Given the description of an element on the screen output the (x, y) to click on. 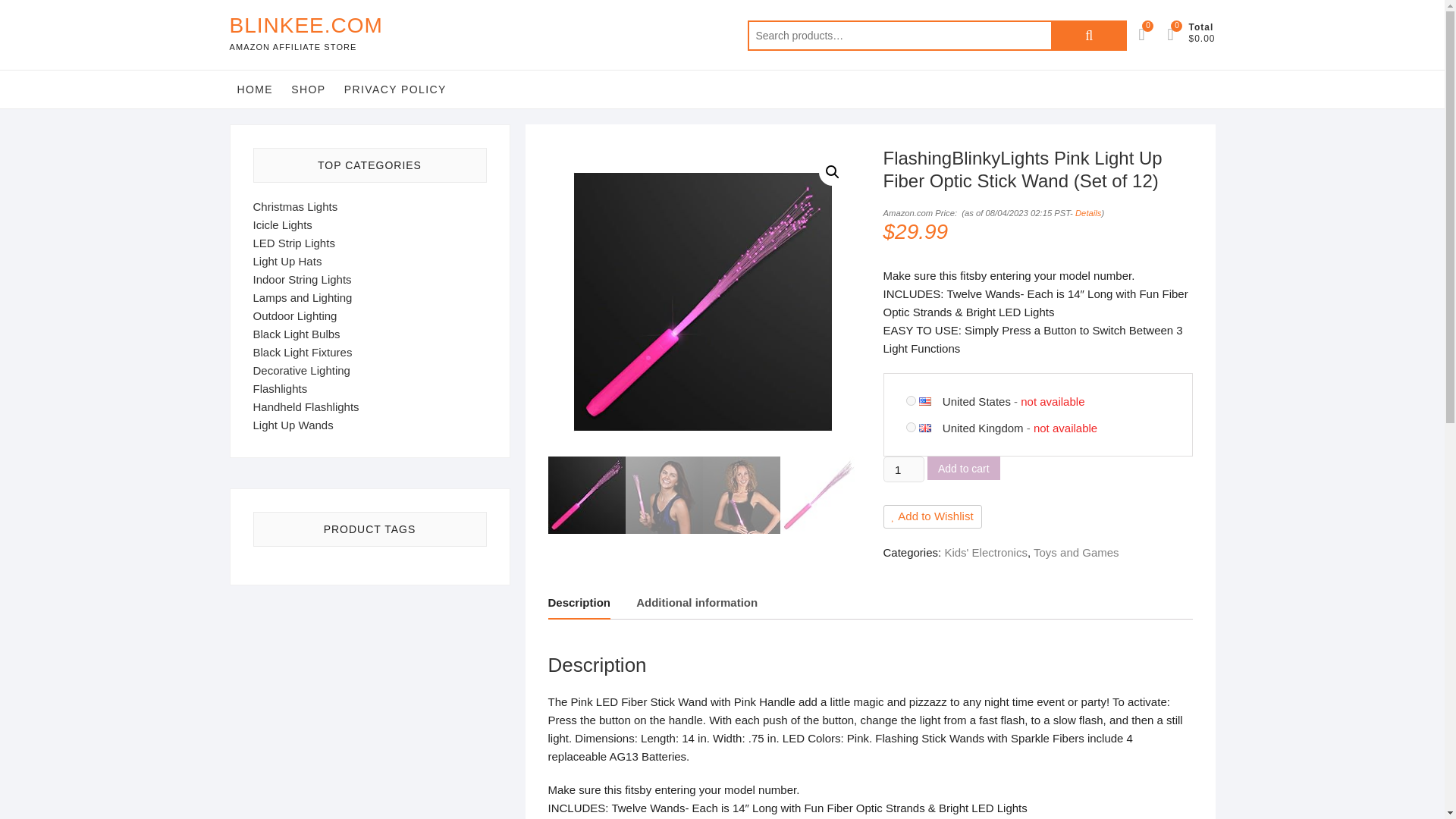
United States (976, 400)
1 (902, 469)
Kids' Electronics (985, 552)
Description (578, 603)
Add to Wishlist (931, 516)
on (910, 427)
BLINKEE.COM (304, 25)
0 (1177, 34)
Toys and Games (1076, 552)
PRIVACY POLICY (395, 89)
on (910, 400)
Additional information (696, 603)
United Kingdom (930, 427)
HOME (254, 89)
